Given the description of an element on the screen output the (x, y) to click on. 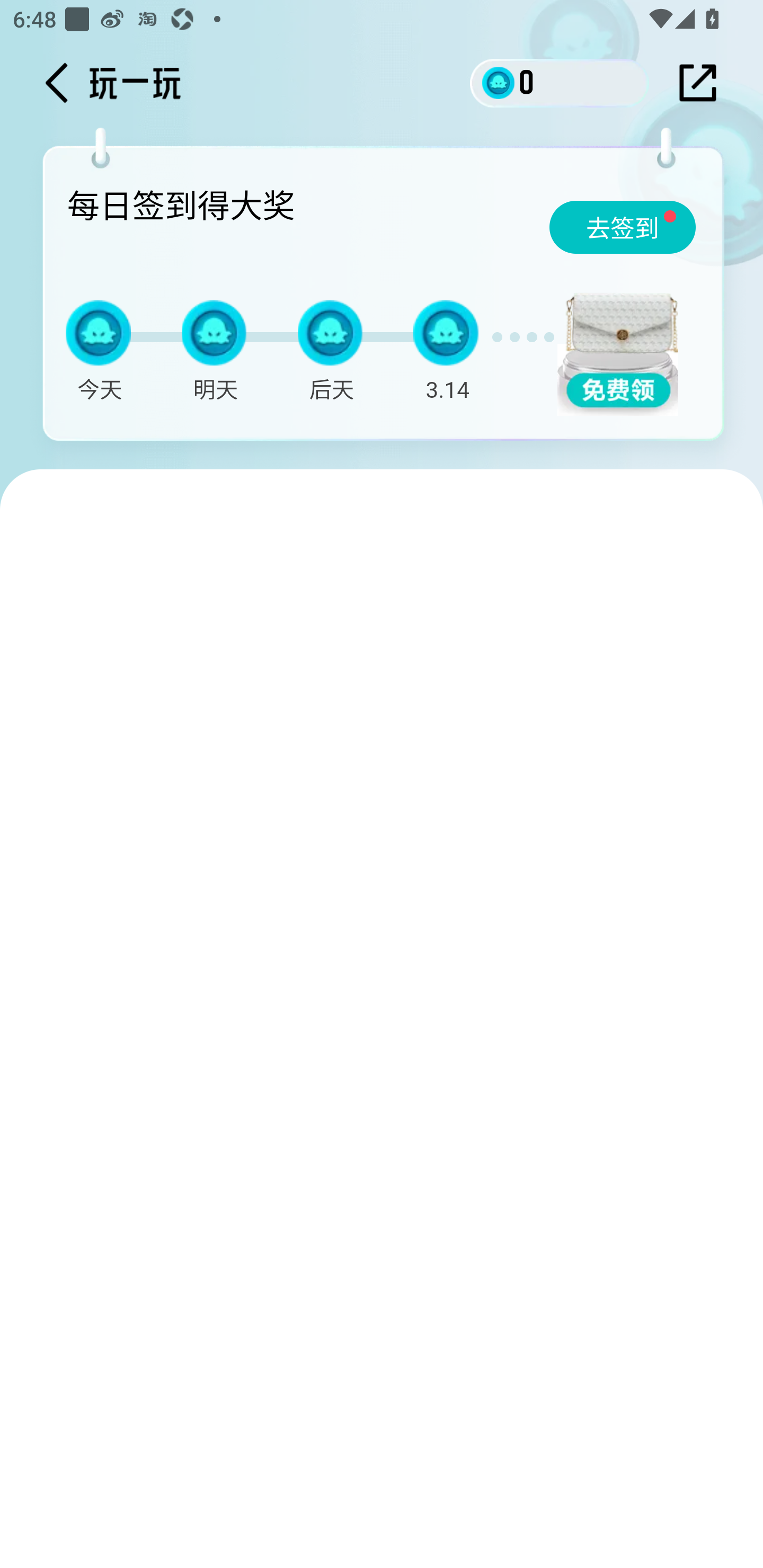
0 (559, 82)
每日签到得大奖 去签到 今天 明天 后天 3.14 (387, 298)
